Given the description of an element on the screen output the (x, y) to click on. 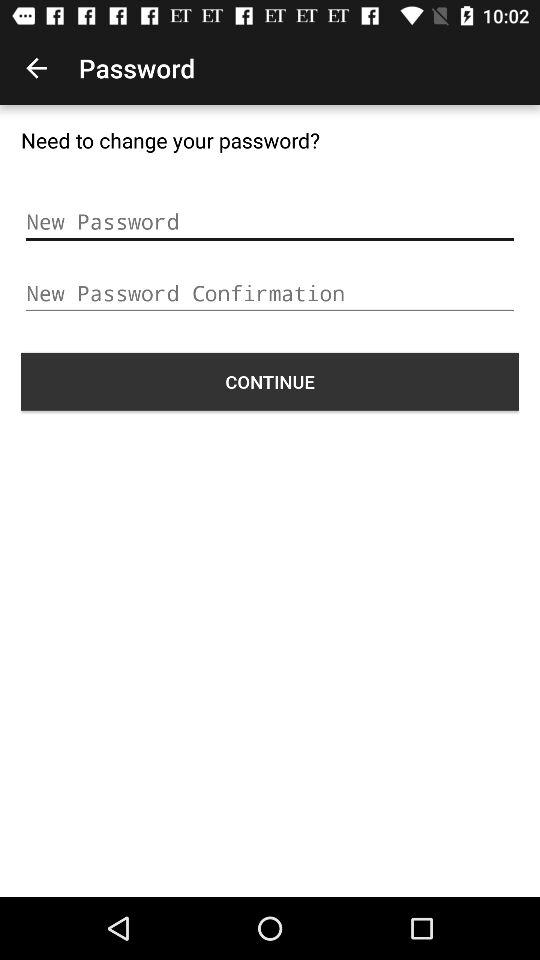
select item next to the password item (36, 68)
